Given the description of an element on the screen output the (x, y) to click on. 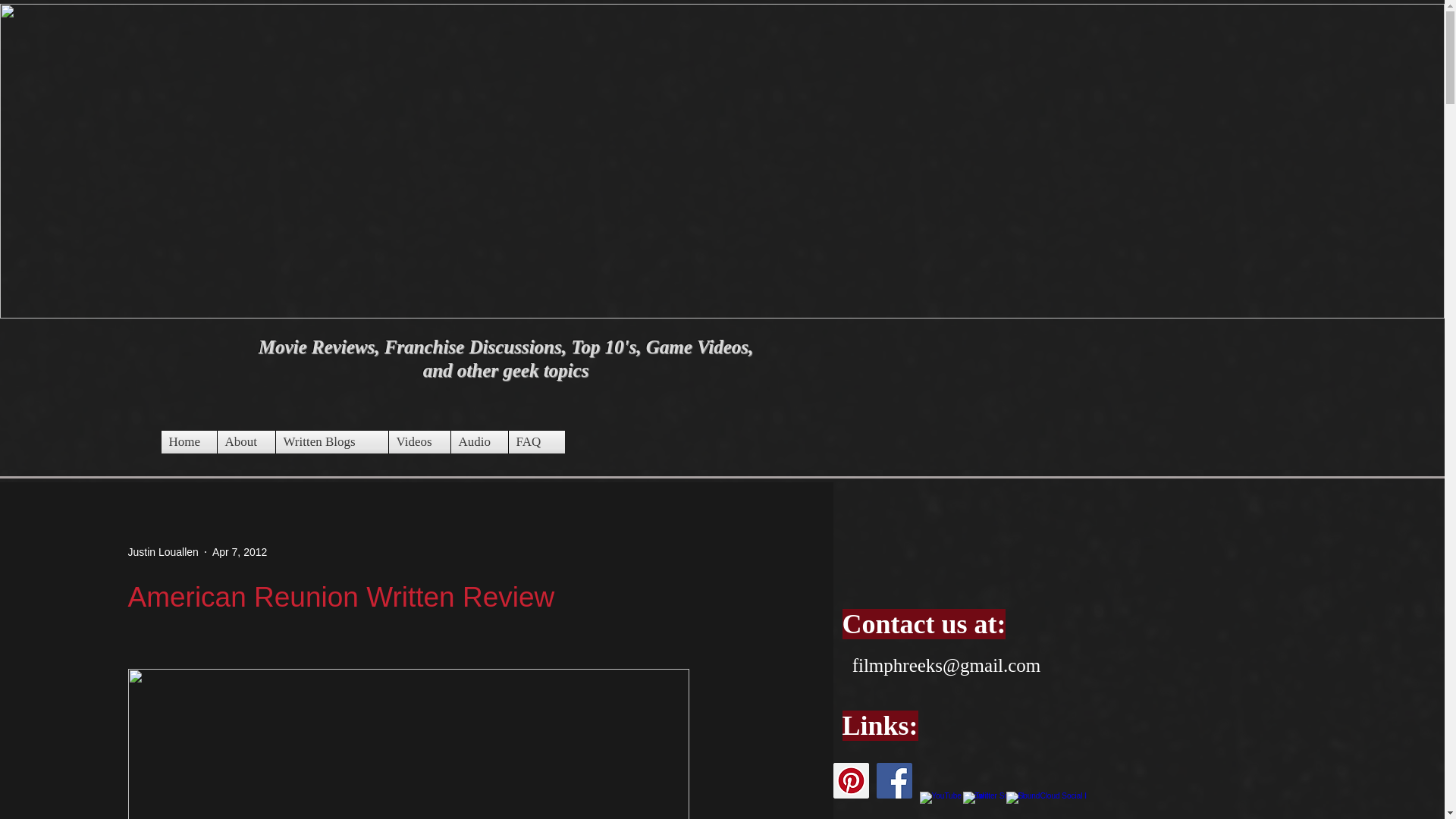
Twitter Follow (981, 503)
Home (187, 441)
Justin Louallen (163, 552)
FAQ (529, 441)
Apr 7, 2012 (239, 551)
Facebook Like (872, 503)
About (245, 441)
